Given the description of an element on the screen output the (x, y) to click on. 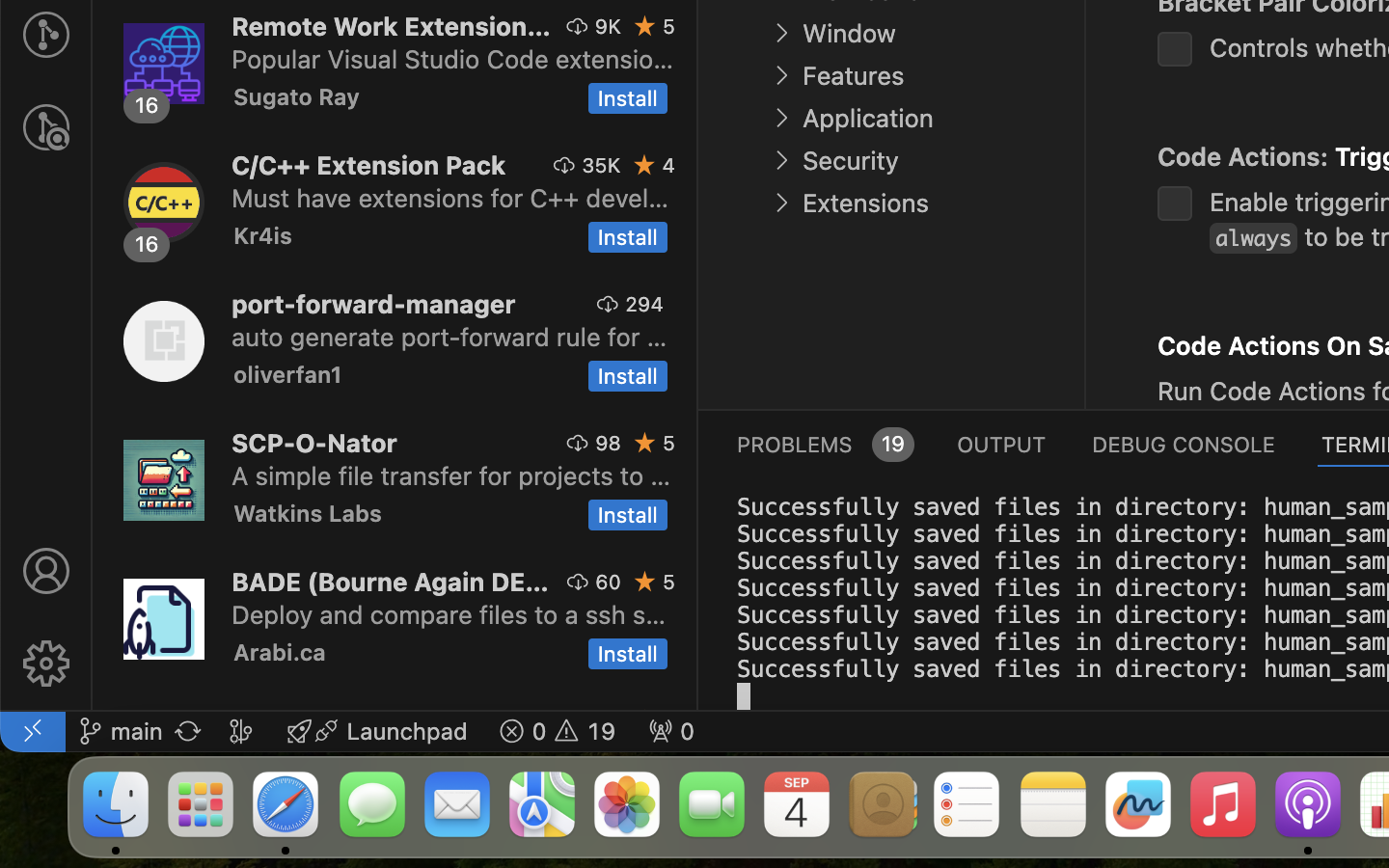
0 DEBUG CONSOLE Element type: AXRadioButton (1183, 443)
Security Element type: AXStaticText (850, 160)
 Element type: AXStaticText (780, 32)
 Element type: AXStaticText (644, 25)
A simple file transfer for projects to and from servers suporting scp (ssh file transfer). Element type: AXStaticText (451, 475)
